Given the description of an element on the screen output the (x, y) to click on. 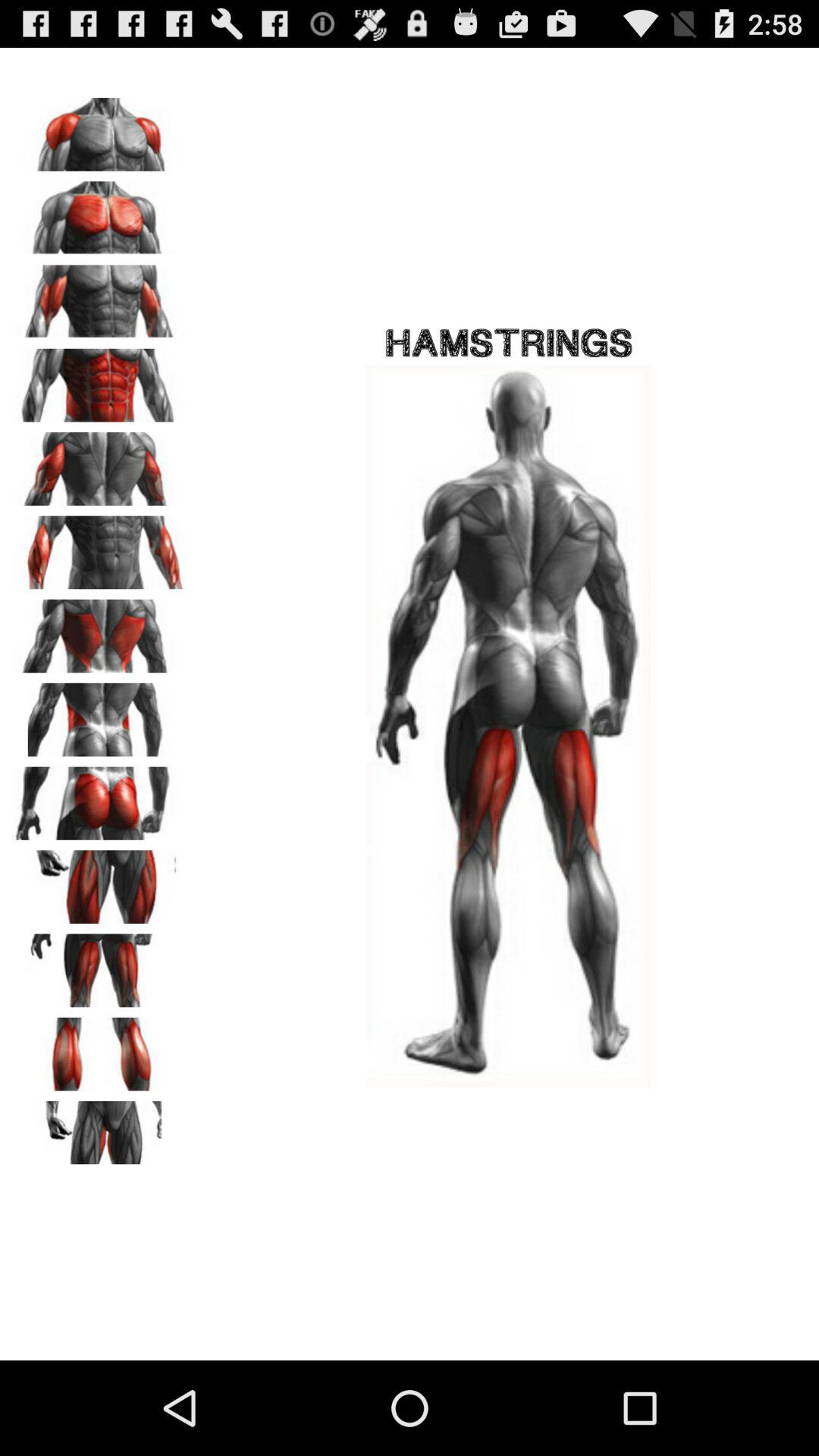
zoom in to the selected region (99, 881)
